Given the description of an element on the screen output the (x, y) to click on. 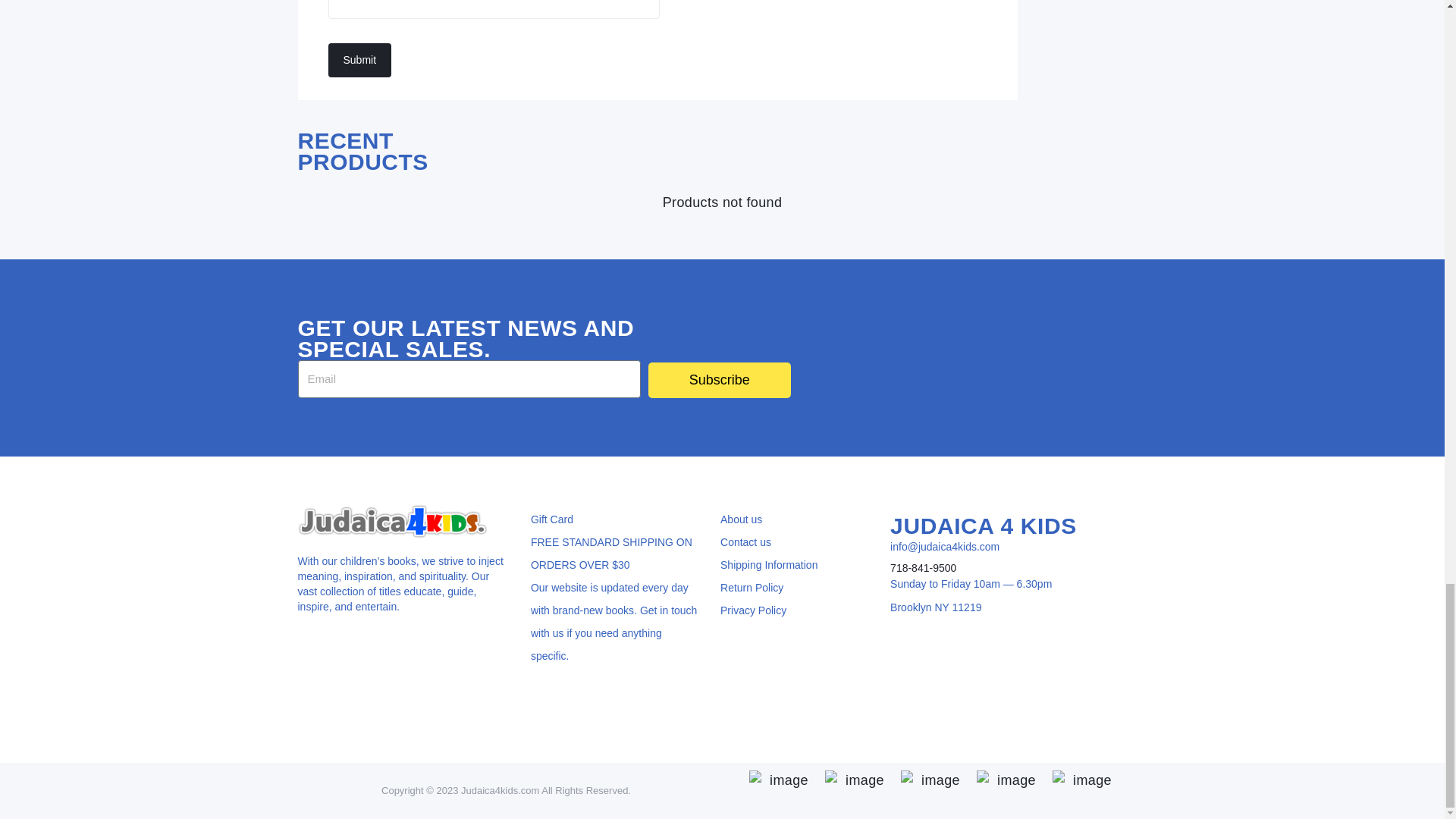
Submit (359, 59)
